Given the description of an element on the screen output the (x, y) to click on. 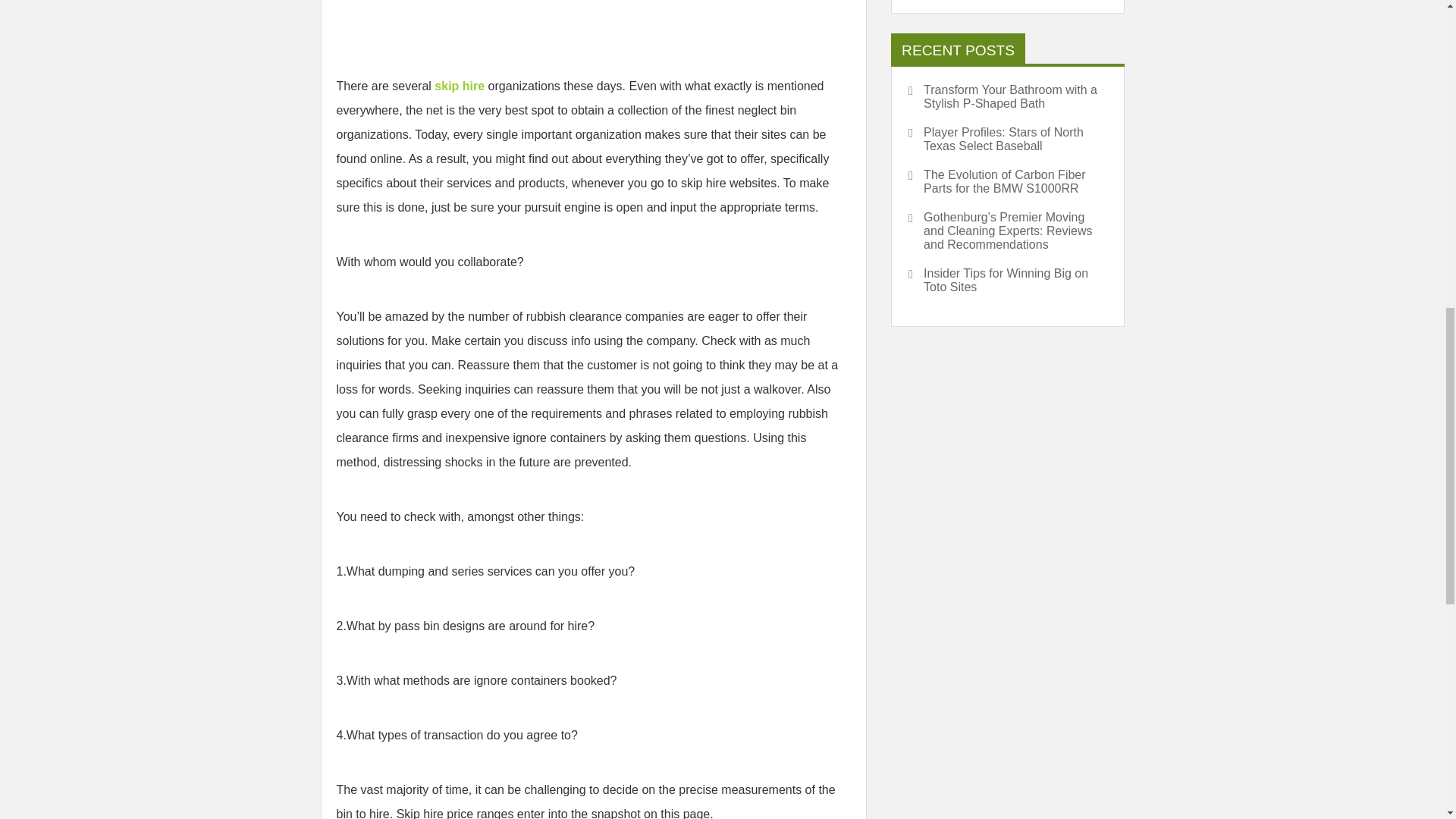
Insider Tips for Winning Big on Toto Sites (1007, 280)
The Evolution of Carbon Fiber Parts for the BMW S1000RR (1007, 181)
Waste-Removal3 (593, 16)
Player Profiles: Stars of North Texas Select Baseball (1007, 139)
skip hire (458, 85)
Transform Your Bathroom with a Stylish P-Shaped Bath (1007, 96)
